Given the description of an element on the screen output the (x, y) to click on. 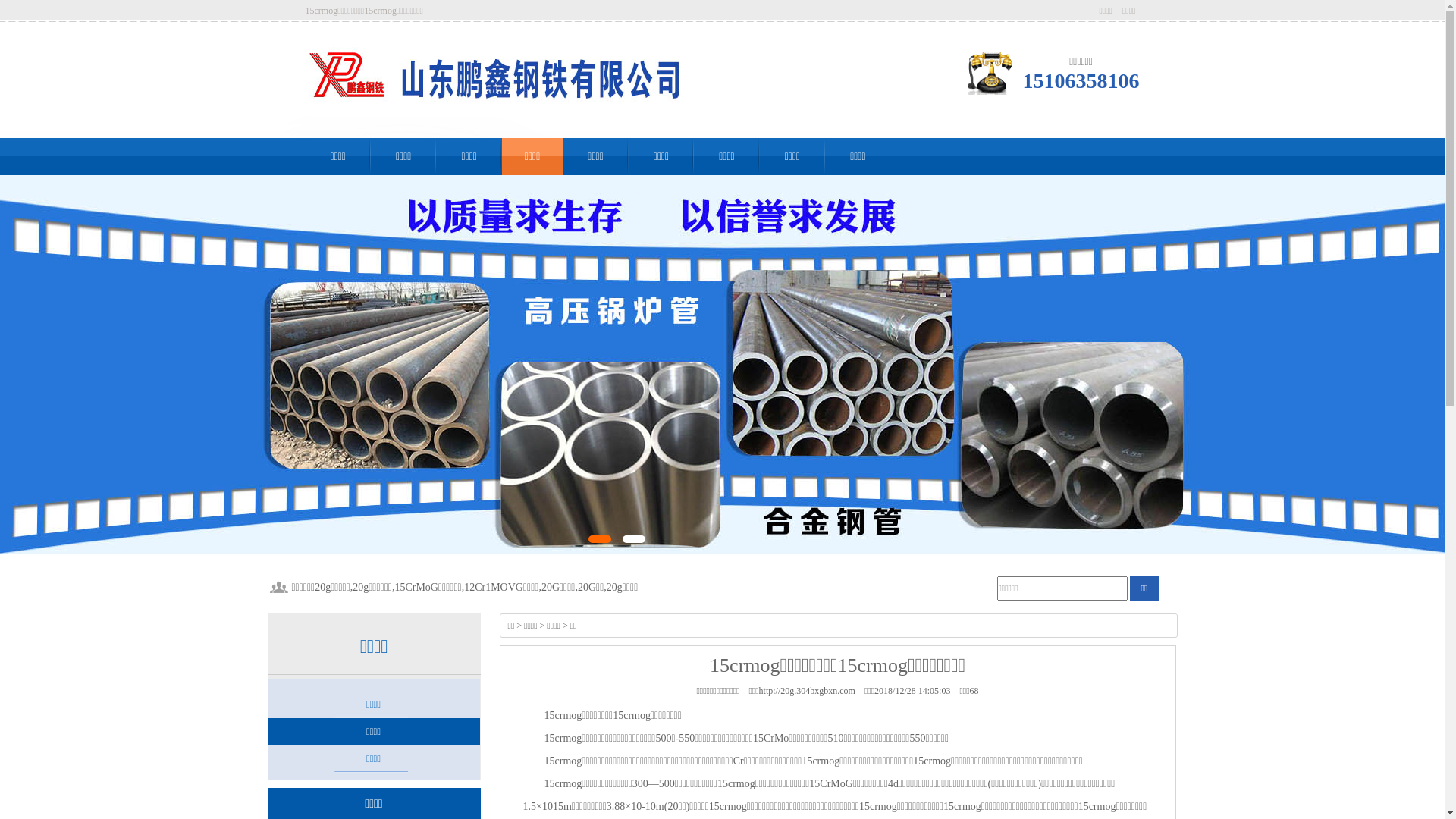
1 Element type: text (599, 538)
2 Element type: text (633, 538)
